Given the description of an element on the screen output the (x, y) to click on. 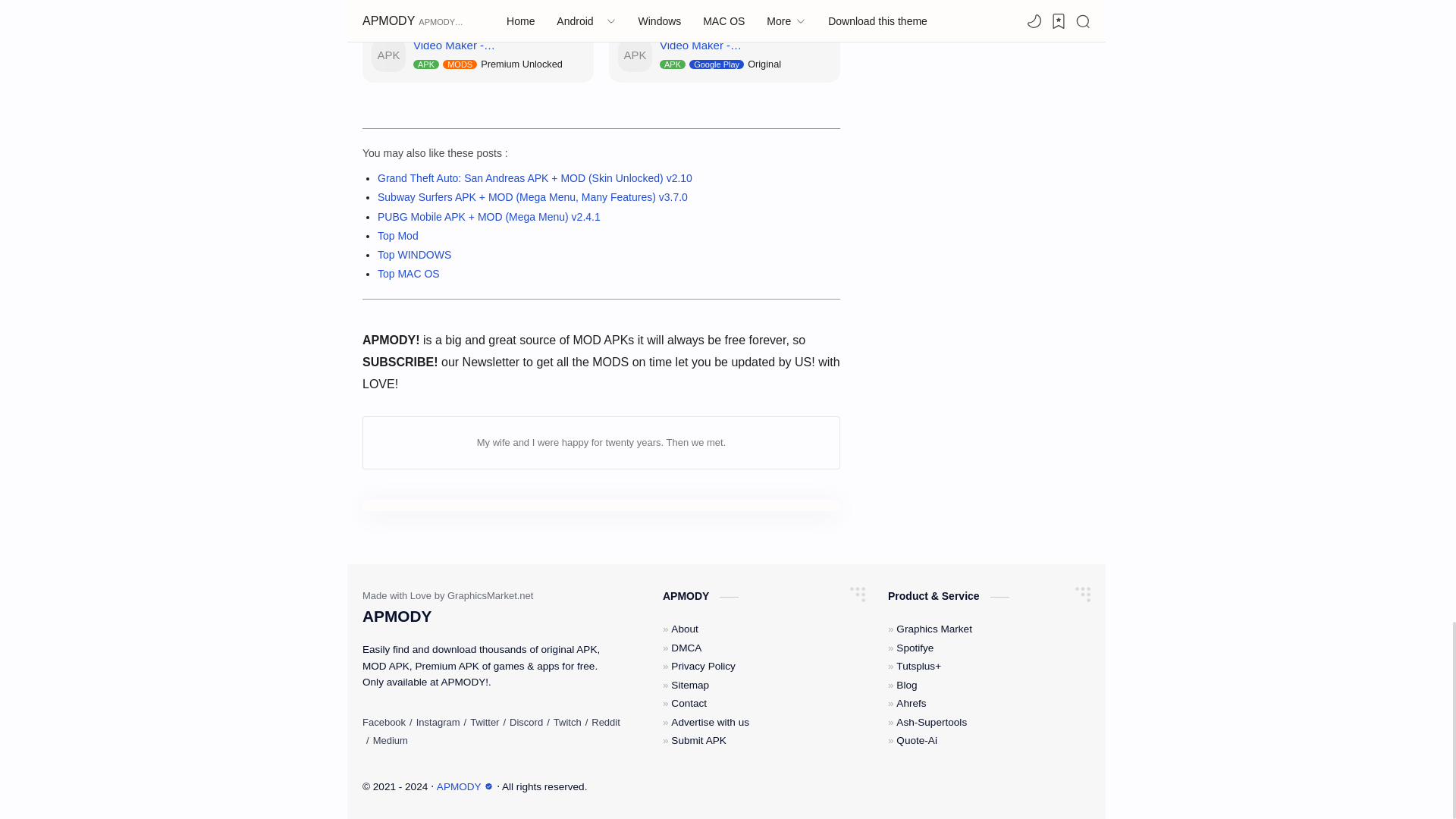
Top WINDOWS (414, 254)
Top MAC OS (408, 273)
Top Mod (398, 235)
